Given the description of an element on the screen output the (x, y) to click on. 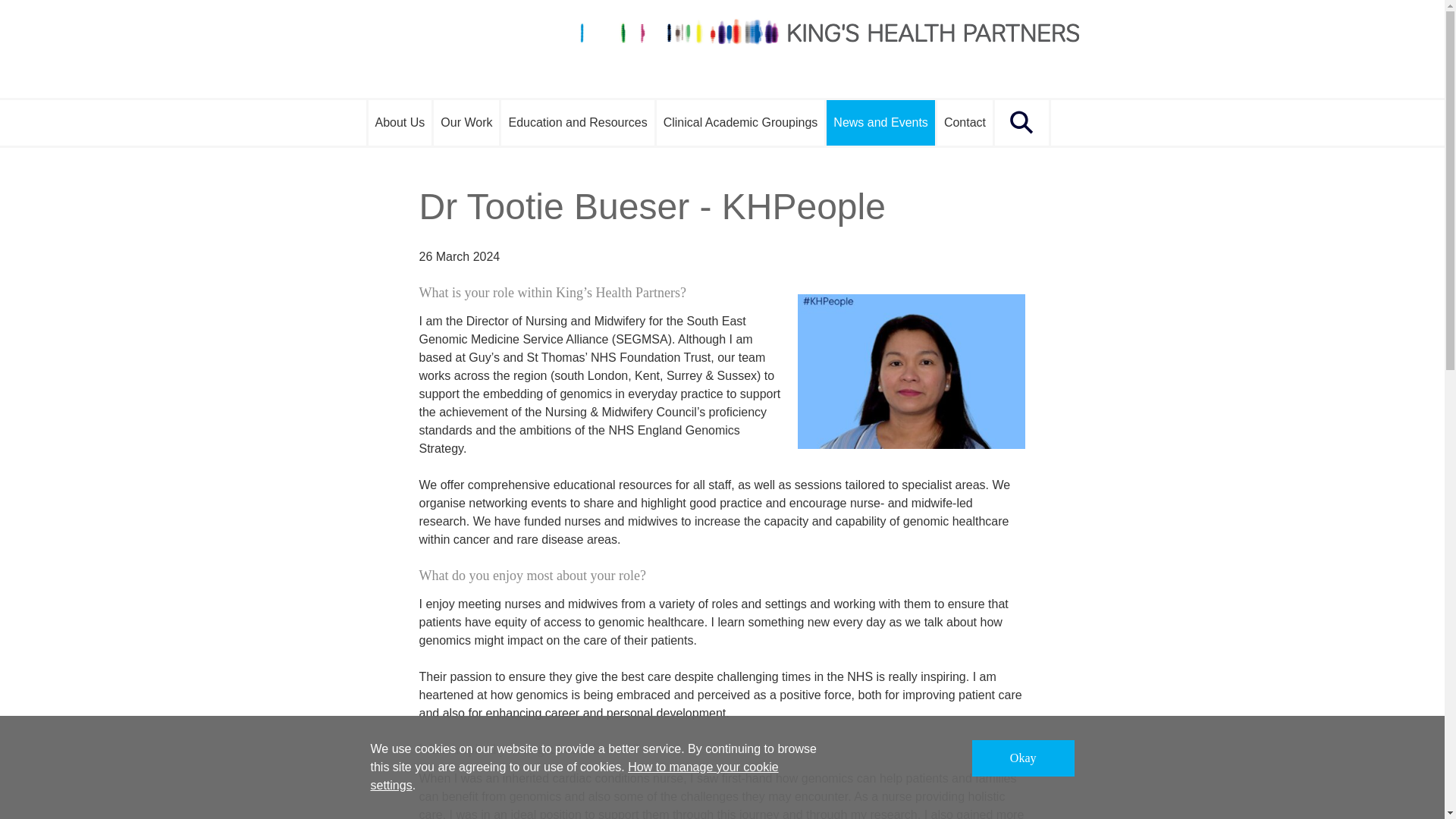
Clinical Academic Groupings (741, 122)
King's Health Partners (721, 48)
About Us (399, 122)
Education and Resources (578, 122)
News and Events (882, 122)
Our Work (466, 122)
Okay (1023, 758)
Search (1022, 122)
Contact (965, 122)
How to manage your cookie settings (573, 775)
